Given the description of an element on the screen output the (x, y) to click on. 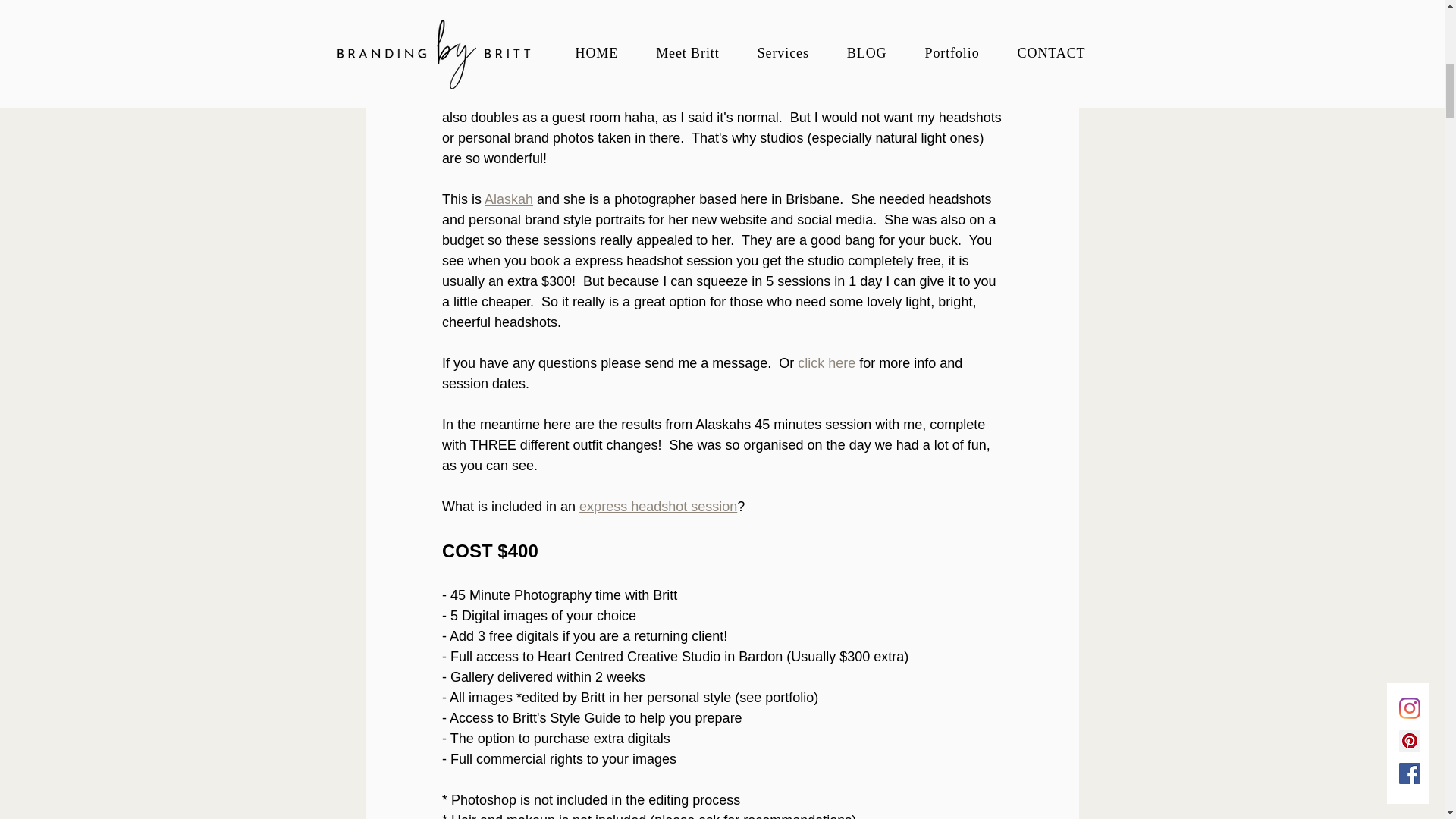
Alaskah (508, 199)
click here (826, 363)
express headshot session (657, 506)
lovely studio at your disposal (829, 35)
